Given the description of an element on the screen output the (x, y) to click on. 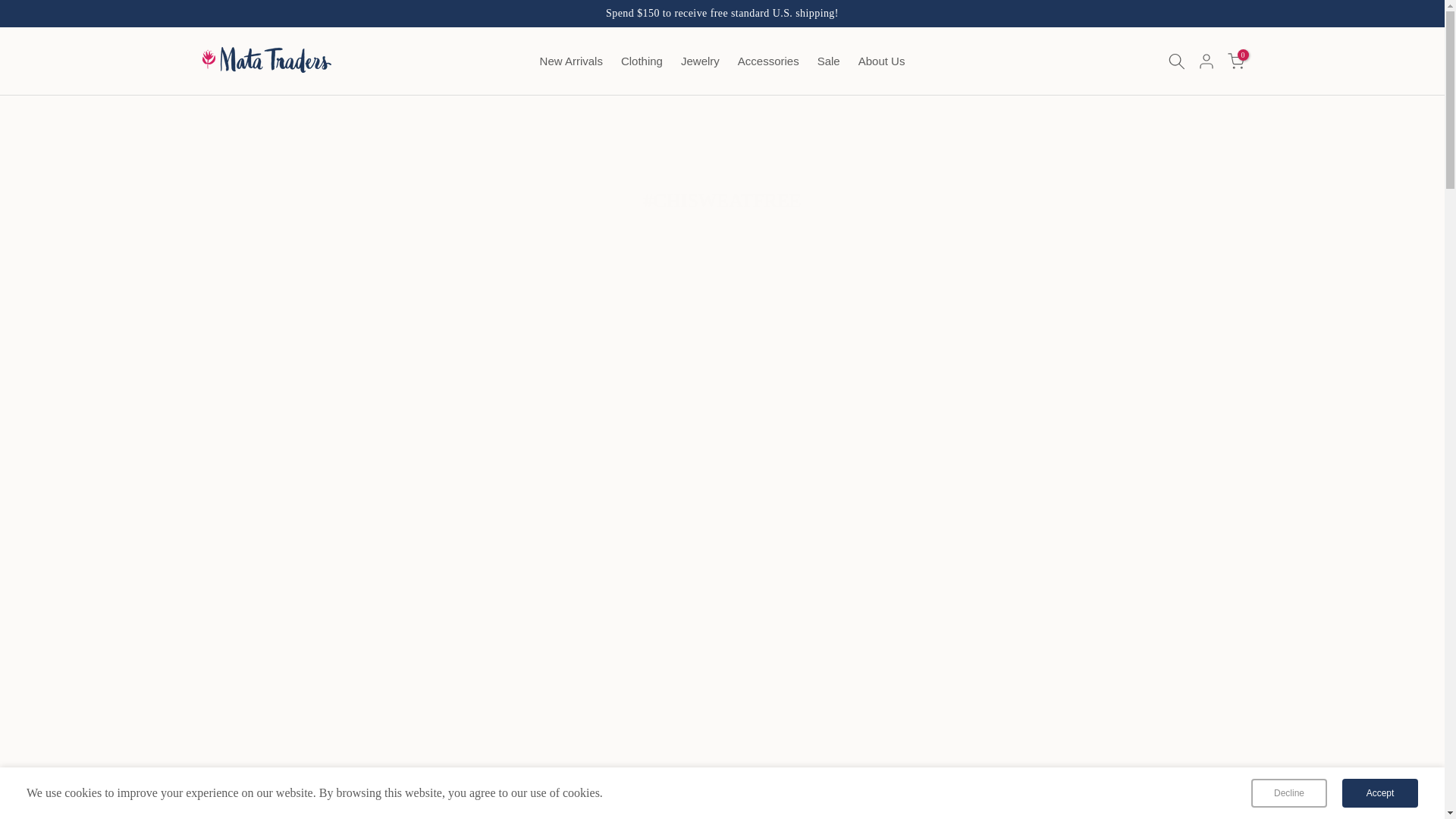
Sale (828, 60)
Accessories (768, 60)
About Us (881, 60)
New Arrivals (571, 60)
Clothing (641, 60)
Shipping (721, 12)
Skip to content (10, 7)
Jewelry (700, 60)
